Given the description of an element on the screen output the (x, y) to click on. 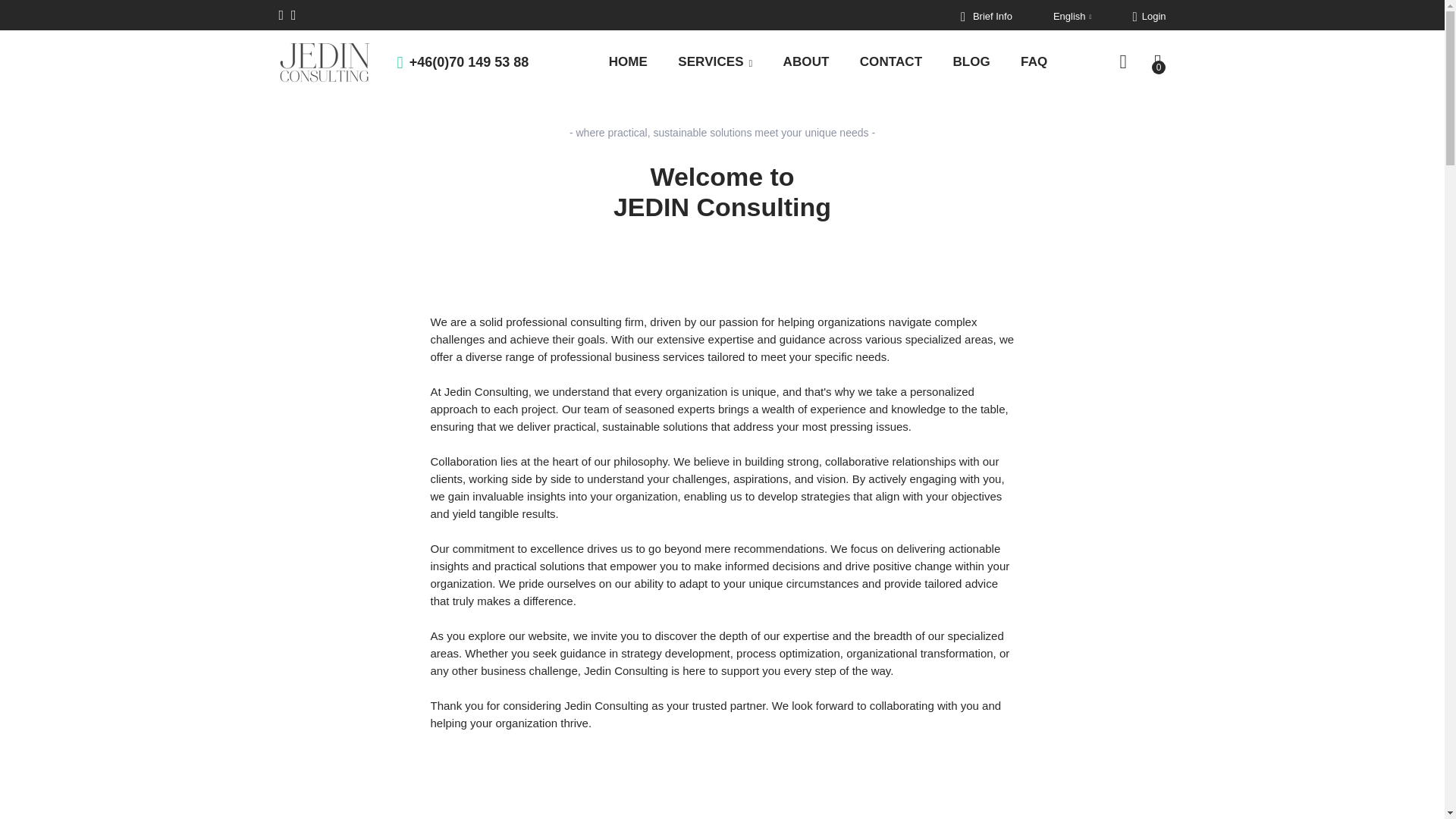
Login (1149, 16)
Search (1122, 62)
Write to us (280, 15)
FAQ (1034, 61)
CONTACT (890, 61)
ABOUT (806, 61)
Brief Info (986, 16)
0 (1159, 62)
HOME (628, 61)
English (1072, 15)
